Given the description of an element on the screen output the (x, y) to click on. 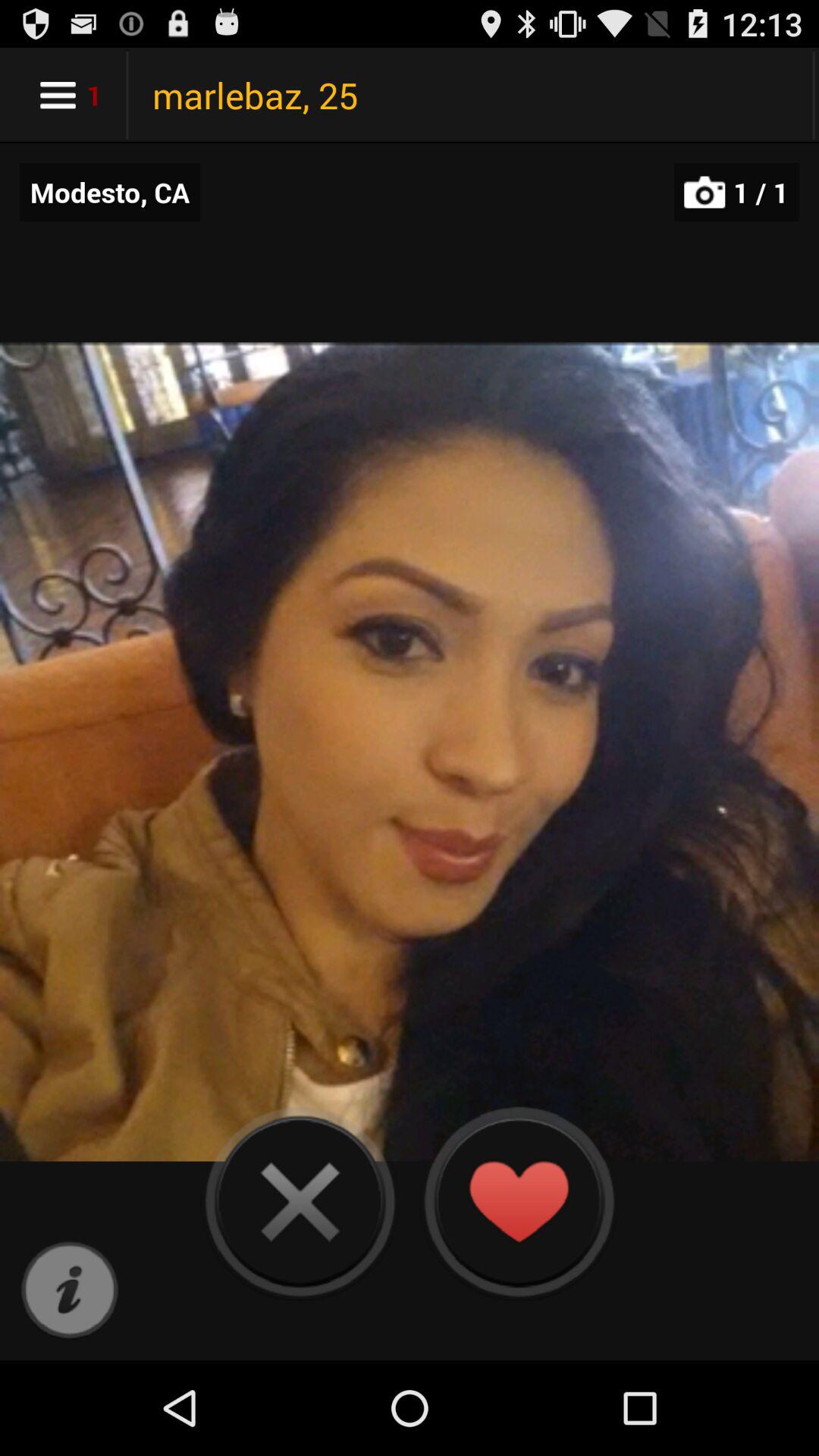
open the icon at the bottom left corner (69, 1290)
